Given the description of an element on the screen output the (x, y) to click on. 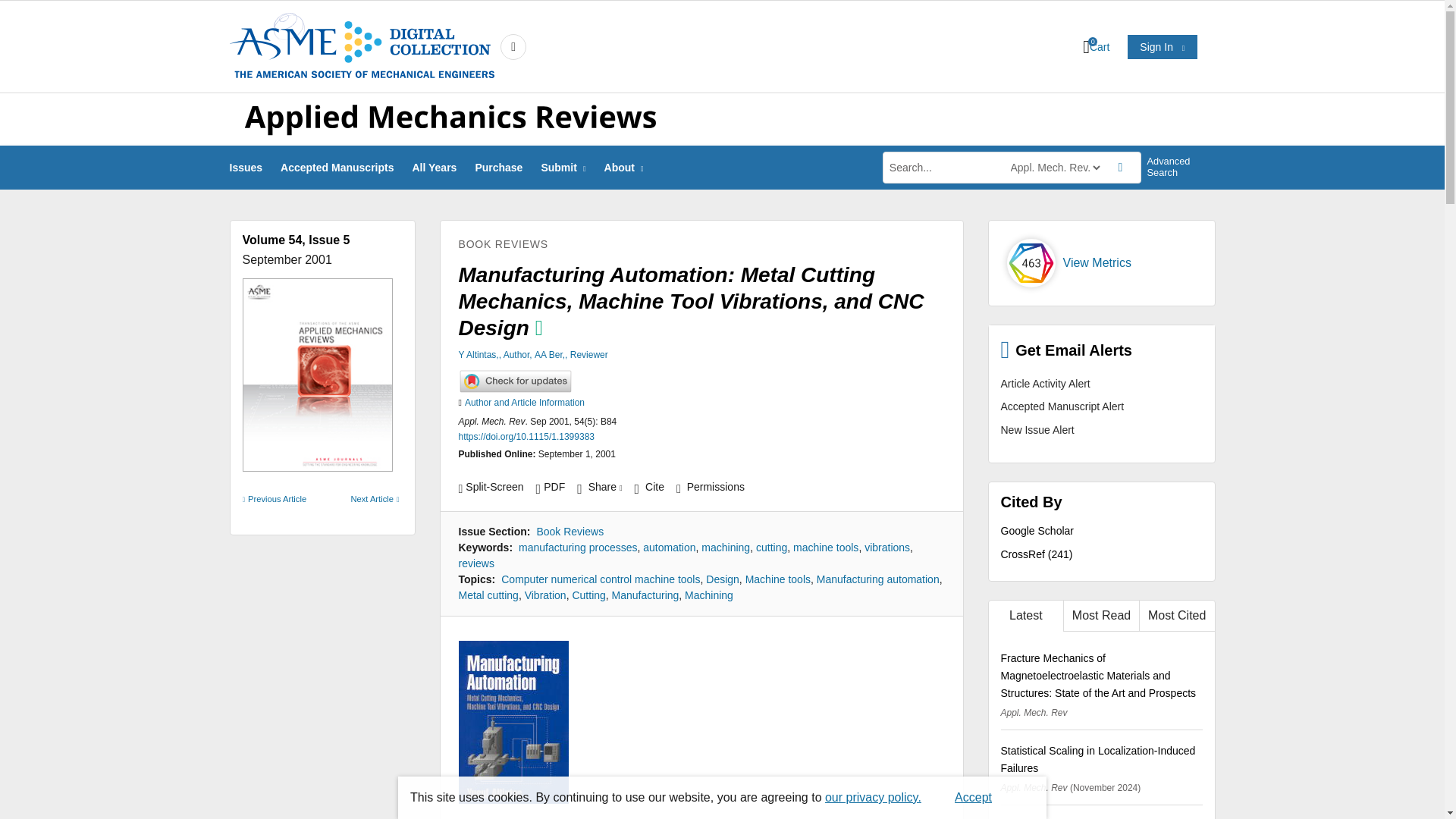
search input (945, 167)
